Given the description of an element on the screen output the (x, y) to click on. 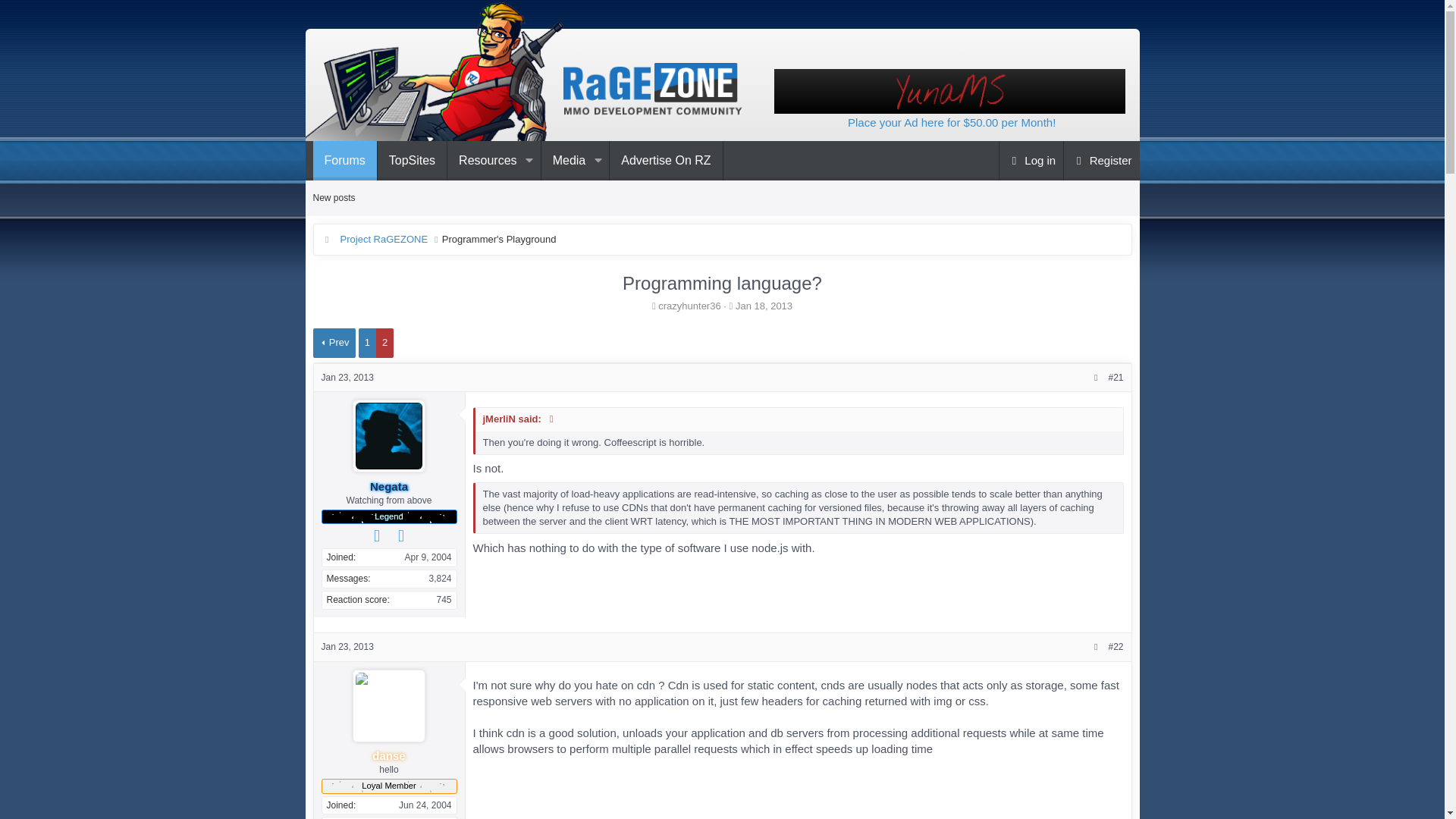
TopSites (411, 160)
Advertise On RZ (666, 160)
Media (563, 160)
Jan 23, 2013 at 8:00 AM (347, 646)
Jan 18, 2013 at 4:25 PM (763, 306)
Project RaGEZONE (517, 160)
Jan 23, 2013 (384, 239)
Log in (347, 377)
crazyhunter36 (1030, 160)
